Given the description of an element on the screen output the (x, y) to click on. 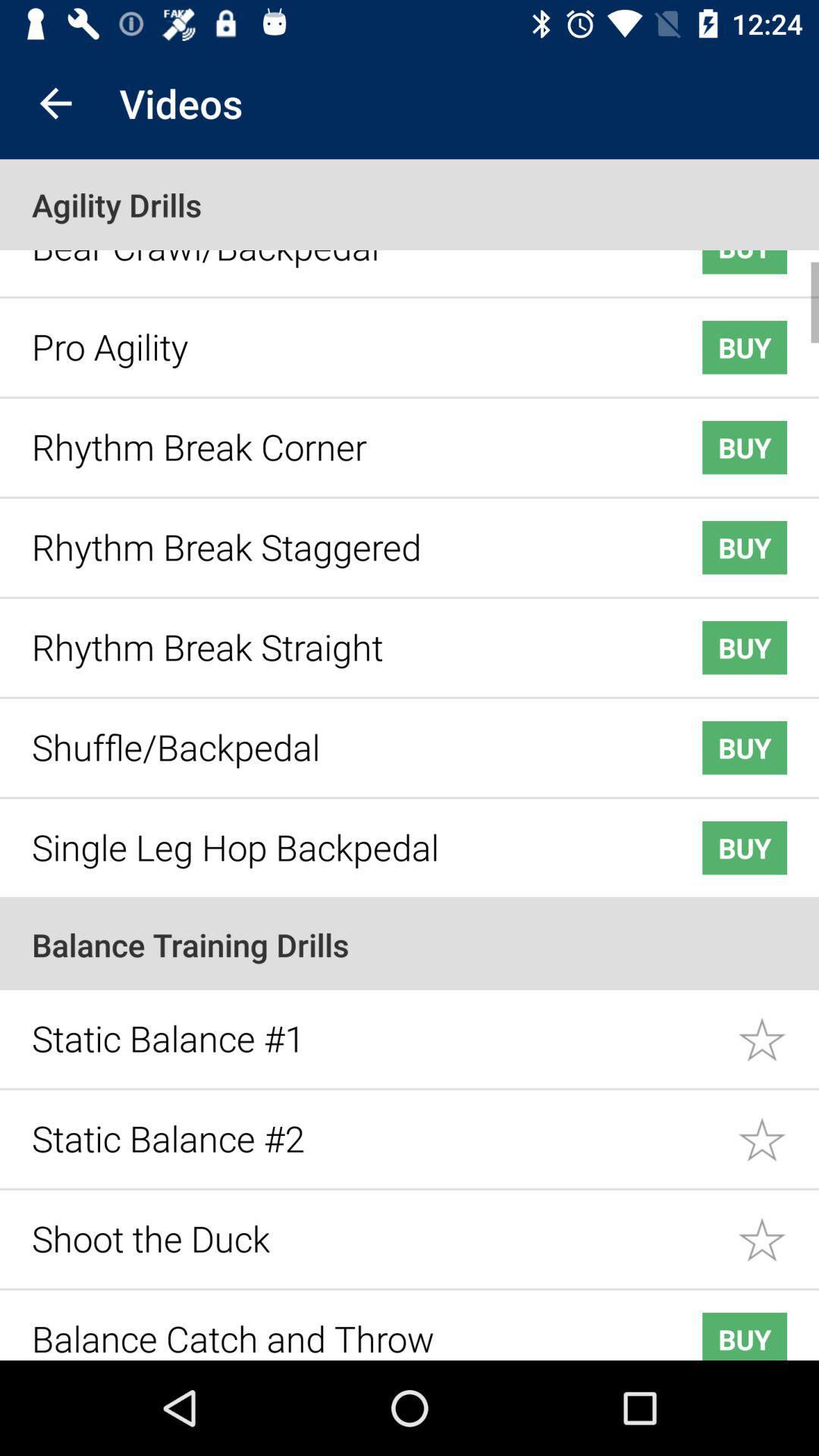
rate stars (778, 1028)
